Given the description of an element on the screen output the (x, y) to click on. 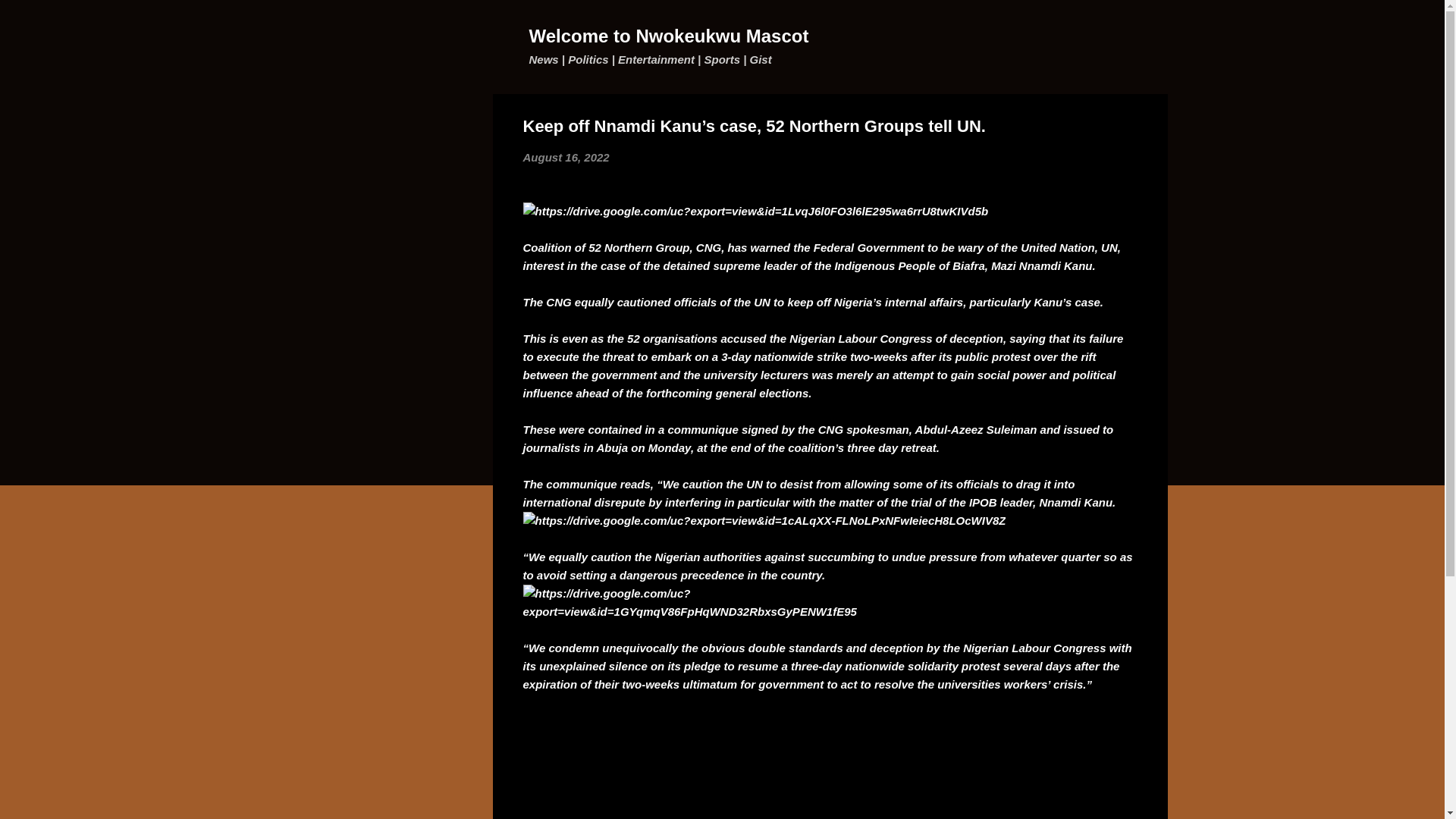
August 16, 2022 (566, 156)
Welcome to Nwokeukwu Mascot (669, 35)
permanent link (566, 156)
Search (29, 18)
